Given the description of an element on the screen output the (x, y) to click on. 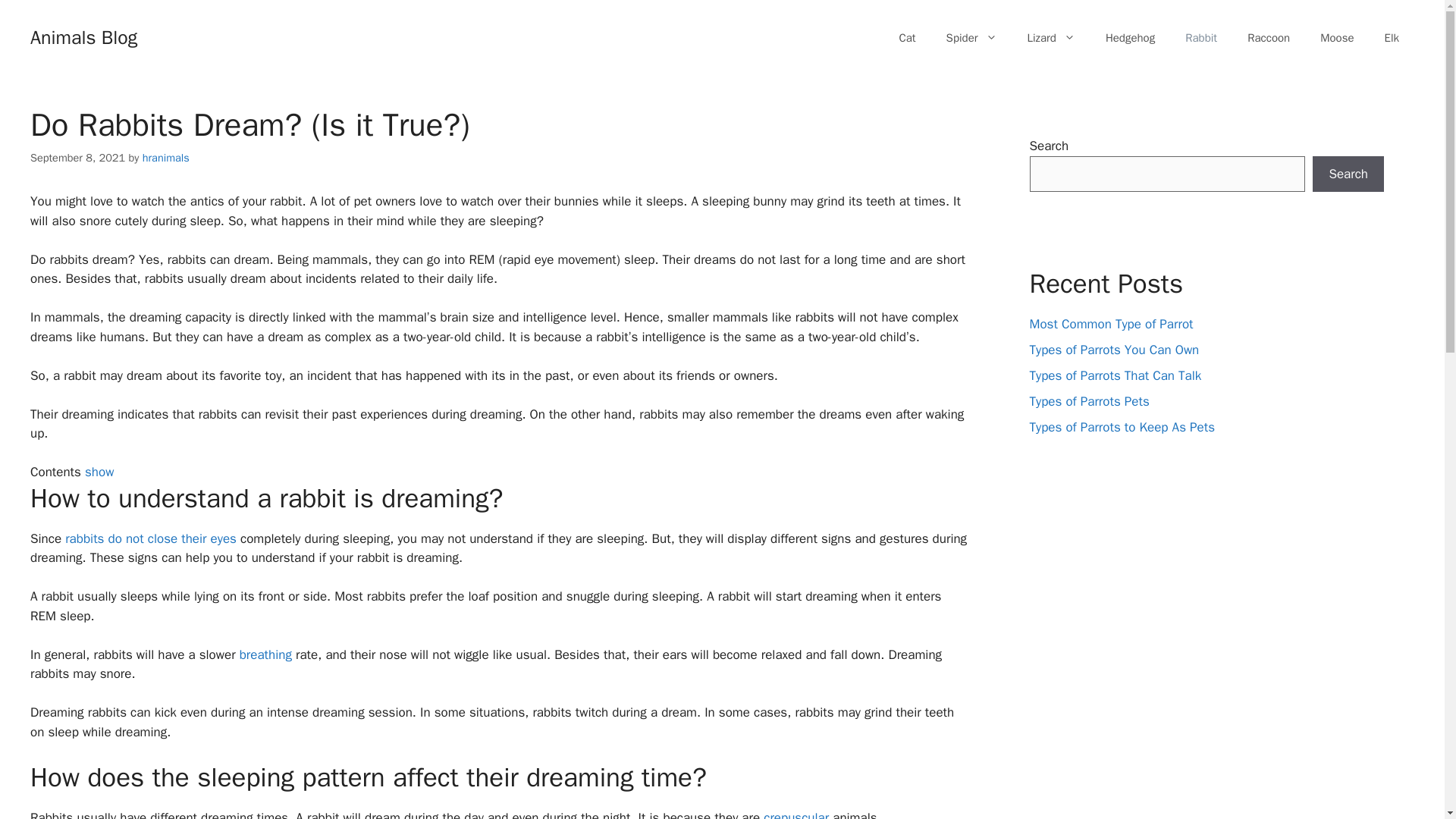
Types of Parrots That Can Talk (1115, 375)
Spider (971, 37)
rabbits do not close their eyes (150, 538)
Lizard (1050, 37)
Cat (906, 37)
Animals Blog (83, 37)
crepuscular (795, 814)
breathing (266, 654)
show (98, 471)
View all posts by hranimals (165, 157)
Raccoon (1267, 37)
Elk (1391, 37)
Moose (1336, 37)
Most Common Type of Parrot (1111, 324)
Search (1348, 174)
